Given the description of an element on the screen output the (x, y) to click on. 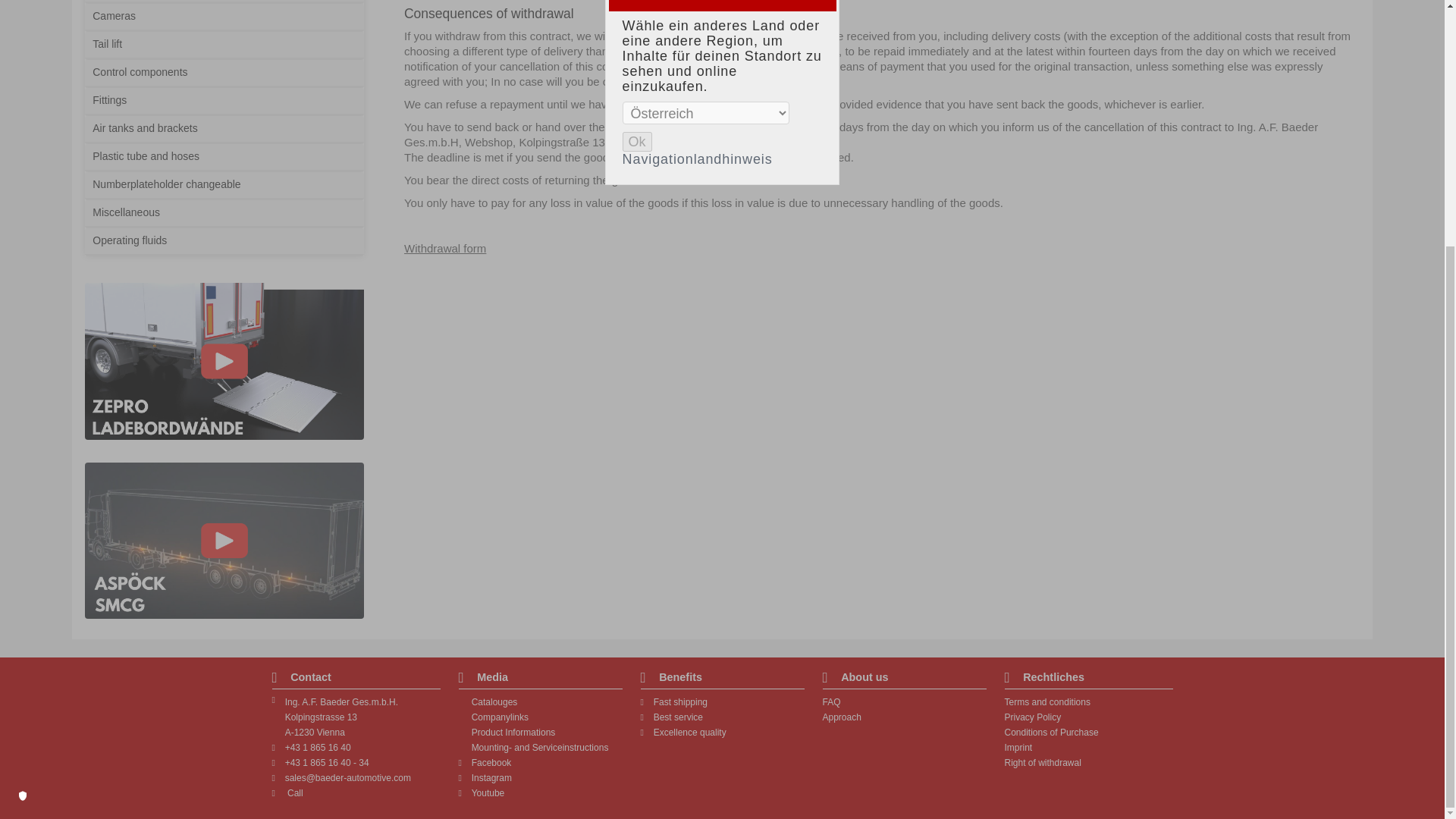
Control components (223, 73)
Operating fluids (223, 242)
Air tanks and brackets (223, 130)
Fittings (223, 101)
Numberplateholder changeable (223, 185)
Plastic tube and hoses (223, 157)
Cameras (223, 17)
Onspot (223, 2)
Tail lift (223, 45)
Miscellaneous (223, 213)
